Given the description of an element on the screen output the (x, y) to click on. 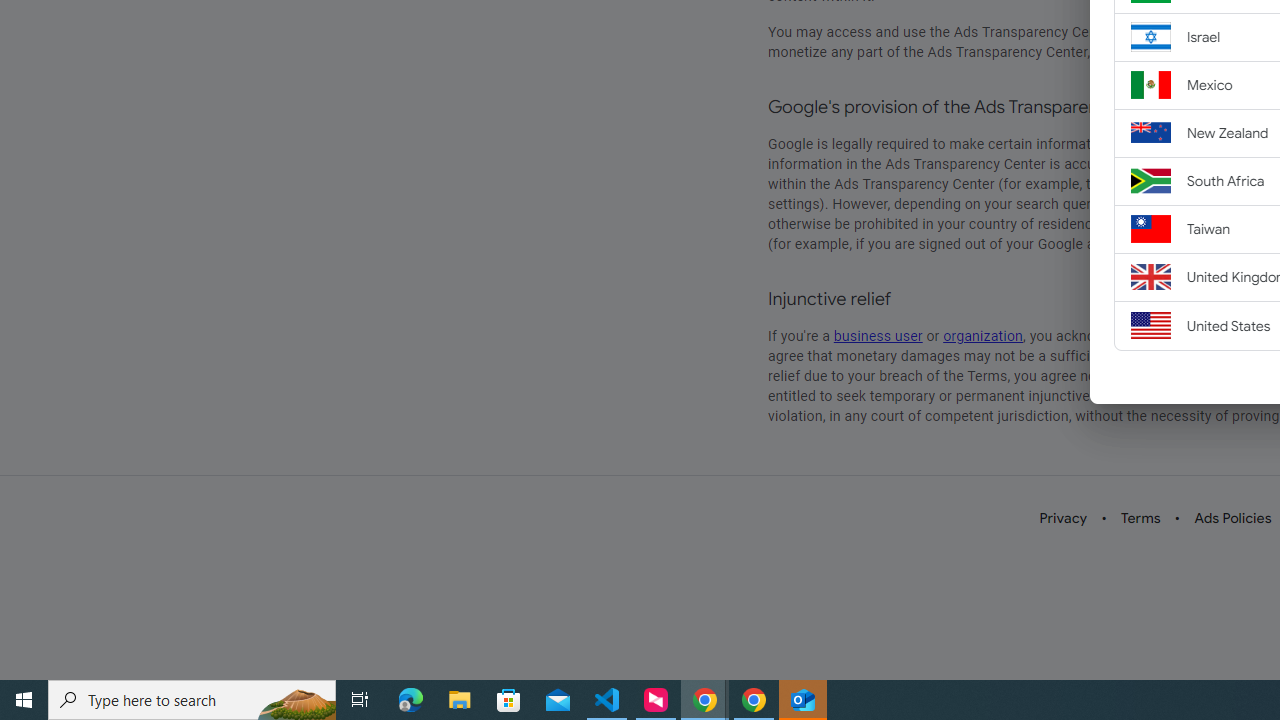
business user (877, 336)
organization (983, 336)
Ads Policies (1233, 518)
